Given the description of an element on the screen output the (x, y) to click on. 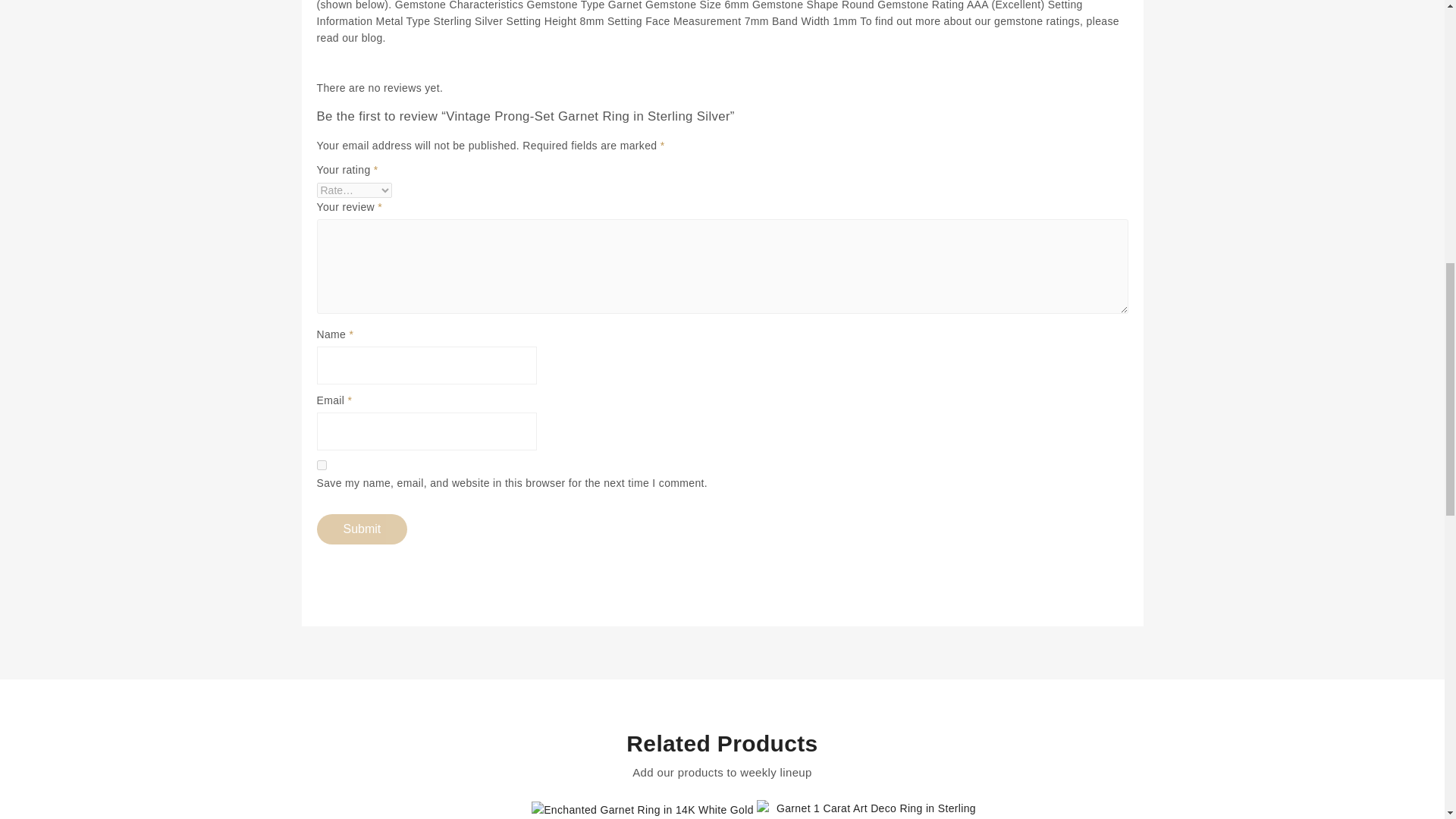
Submit (362, 529)
yes (321, 465)
